Given the description of an element on the screen output the (x, y) to click on. 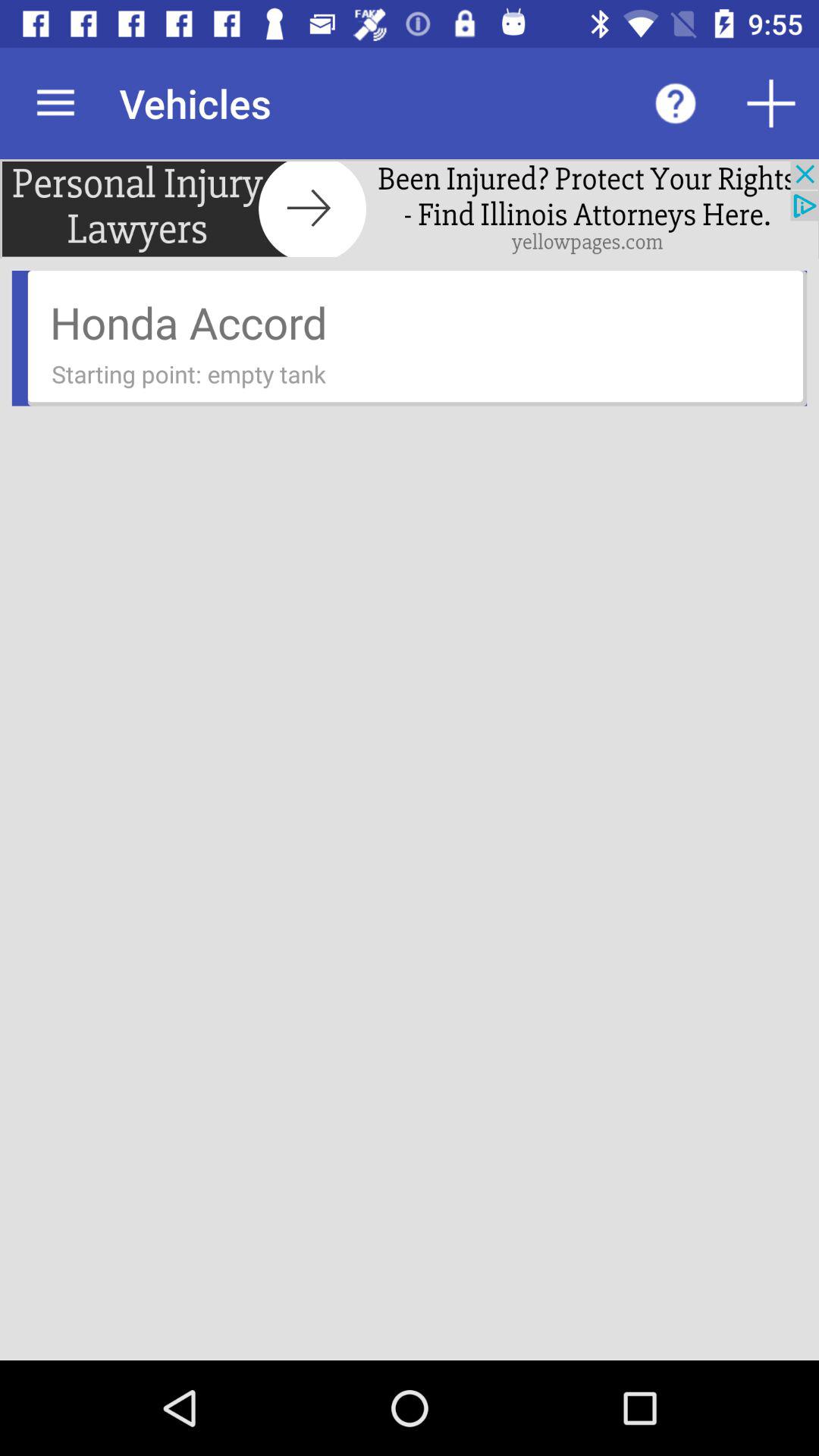
question option (675, 103)
